Given the description of an element on the screen output the (x, y) to click on. 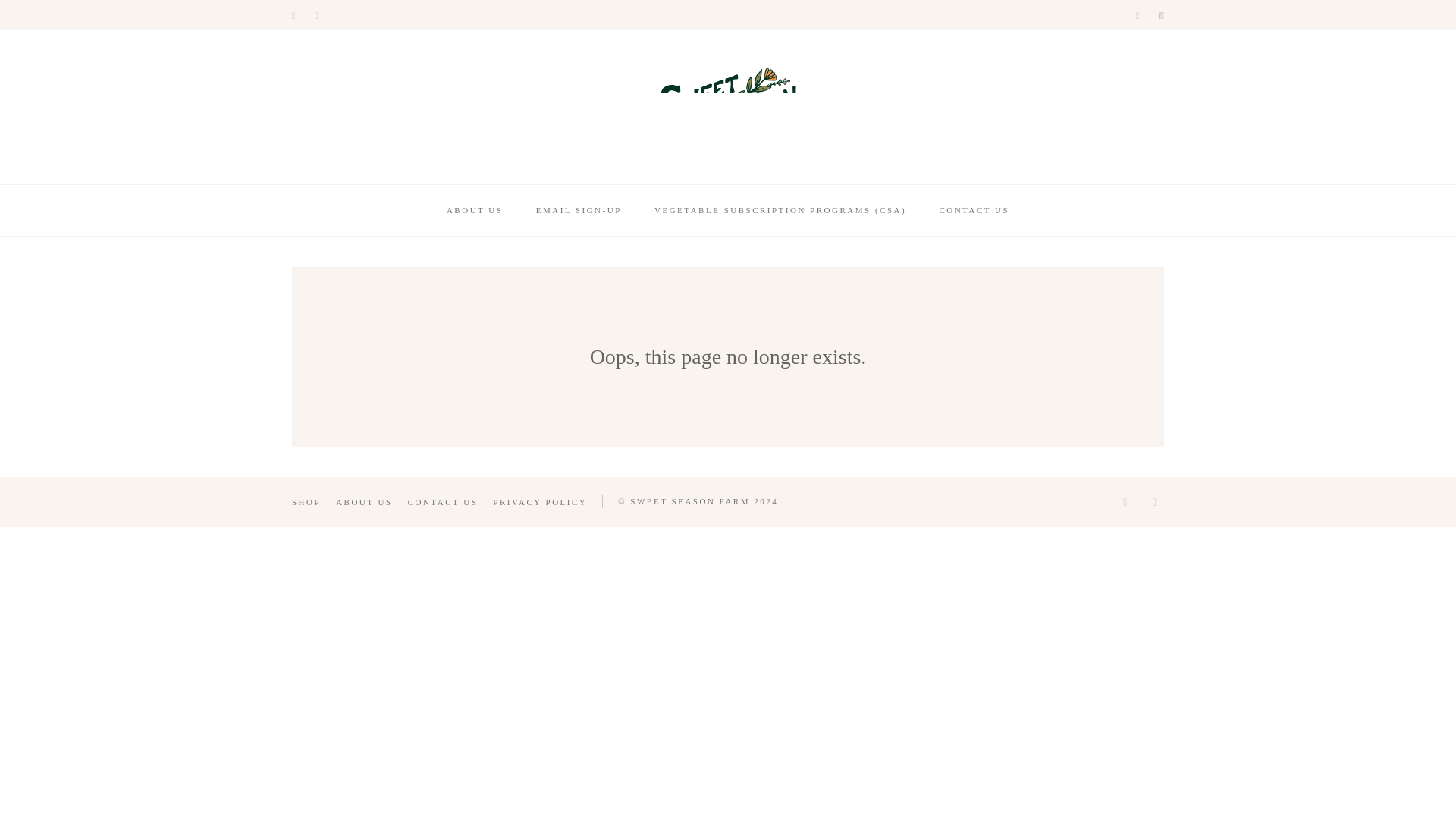
EMAIL SIGN-UP (578, 210)
CONTACT US (443, 501)
ABOUT US (474, 210)
ABOUT US (364, 501)
CONTACT US (974, 210)
PRIVACY POLICY (539, 501)
SHOP (306, 501)
